Given the description of an element on the screen output the (x, y) to click on. 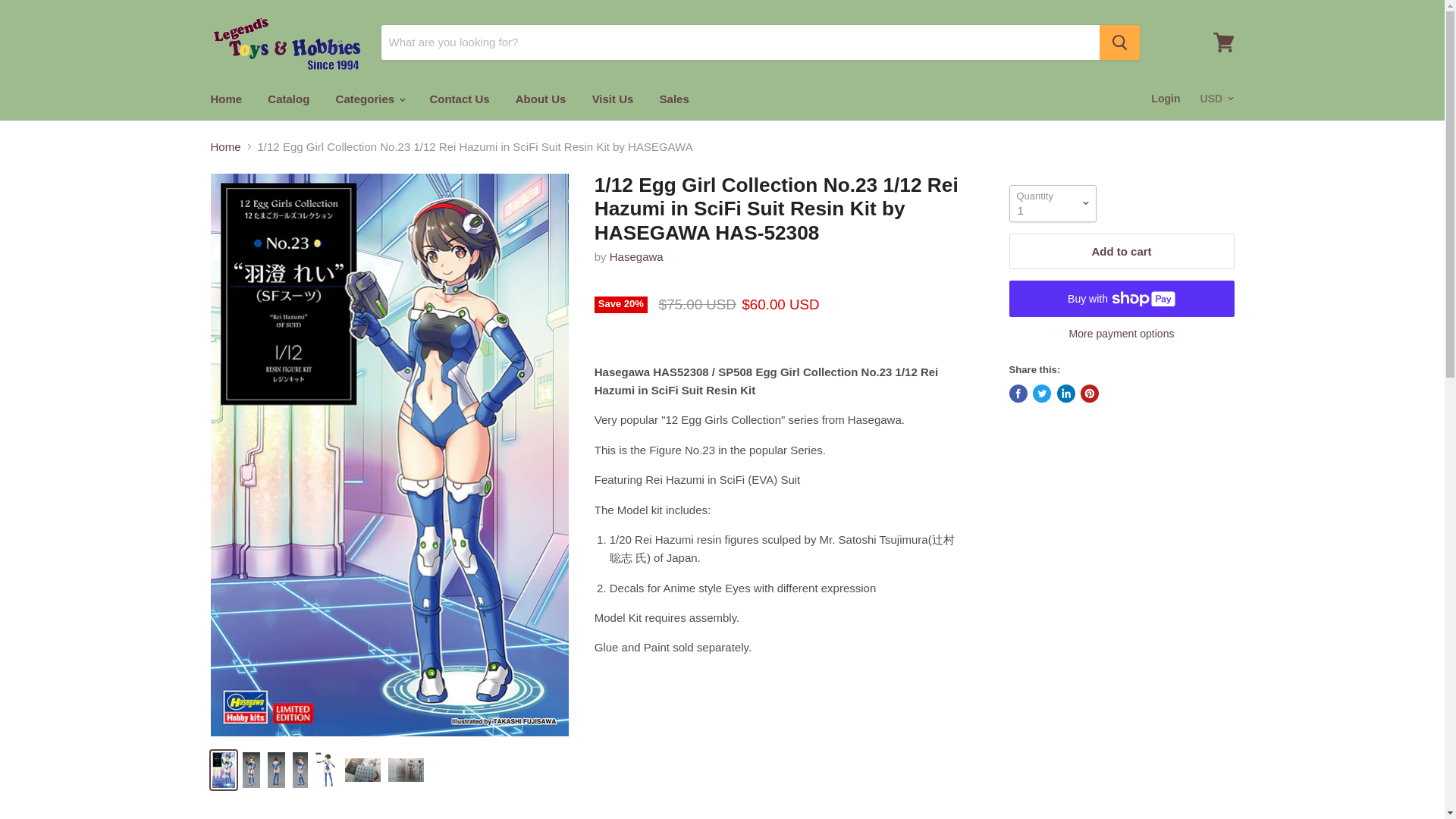
Hasegawa (636, 256)
View cart (1223, 42)
Catalog (288, 98)
Categories (369, 98)
Home (225, 98)
